Given the description of an element on the screen output the (x, y) to click on. 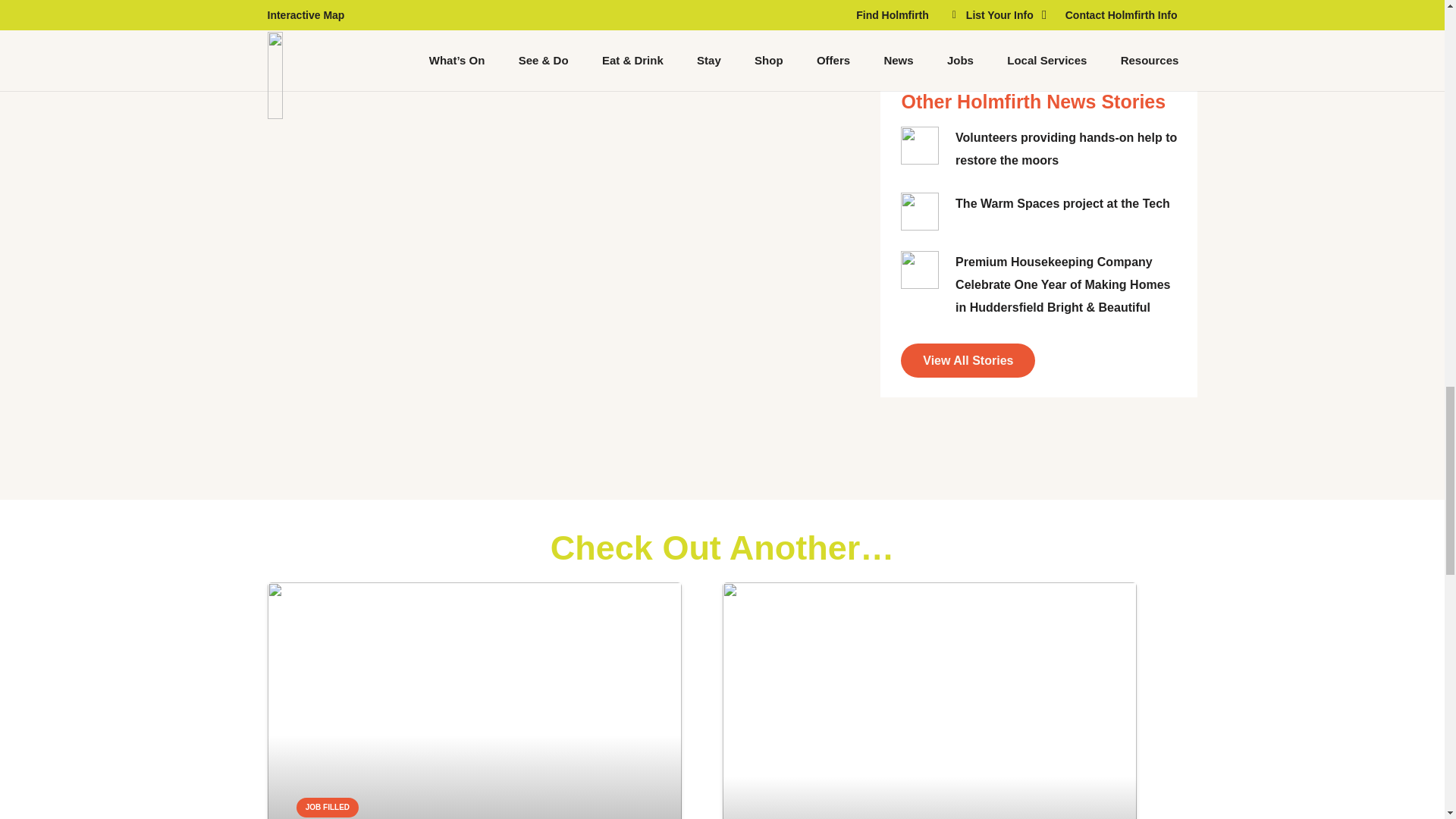
News (968, 360)
